Given the description of an element on the screen output the (x, y) to click on. 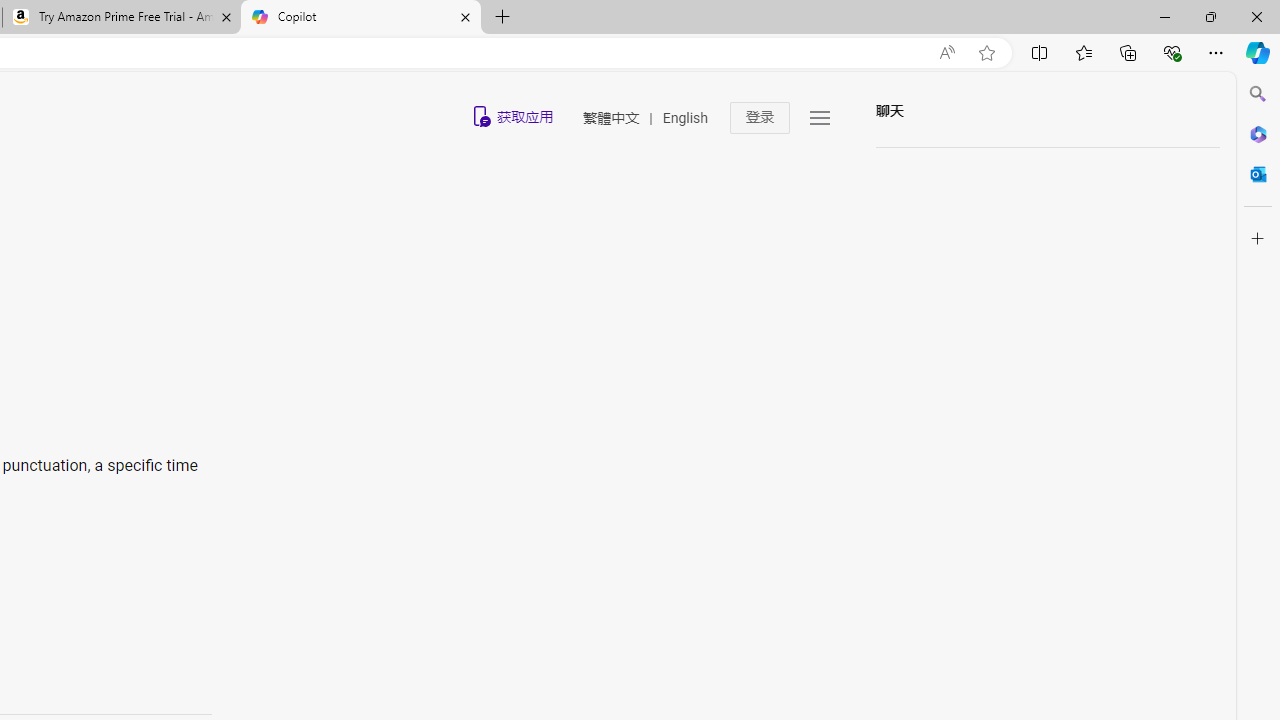
Copilot (360, 17)
